Given the description of an element on the screen output the (x, y) to click on. 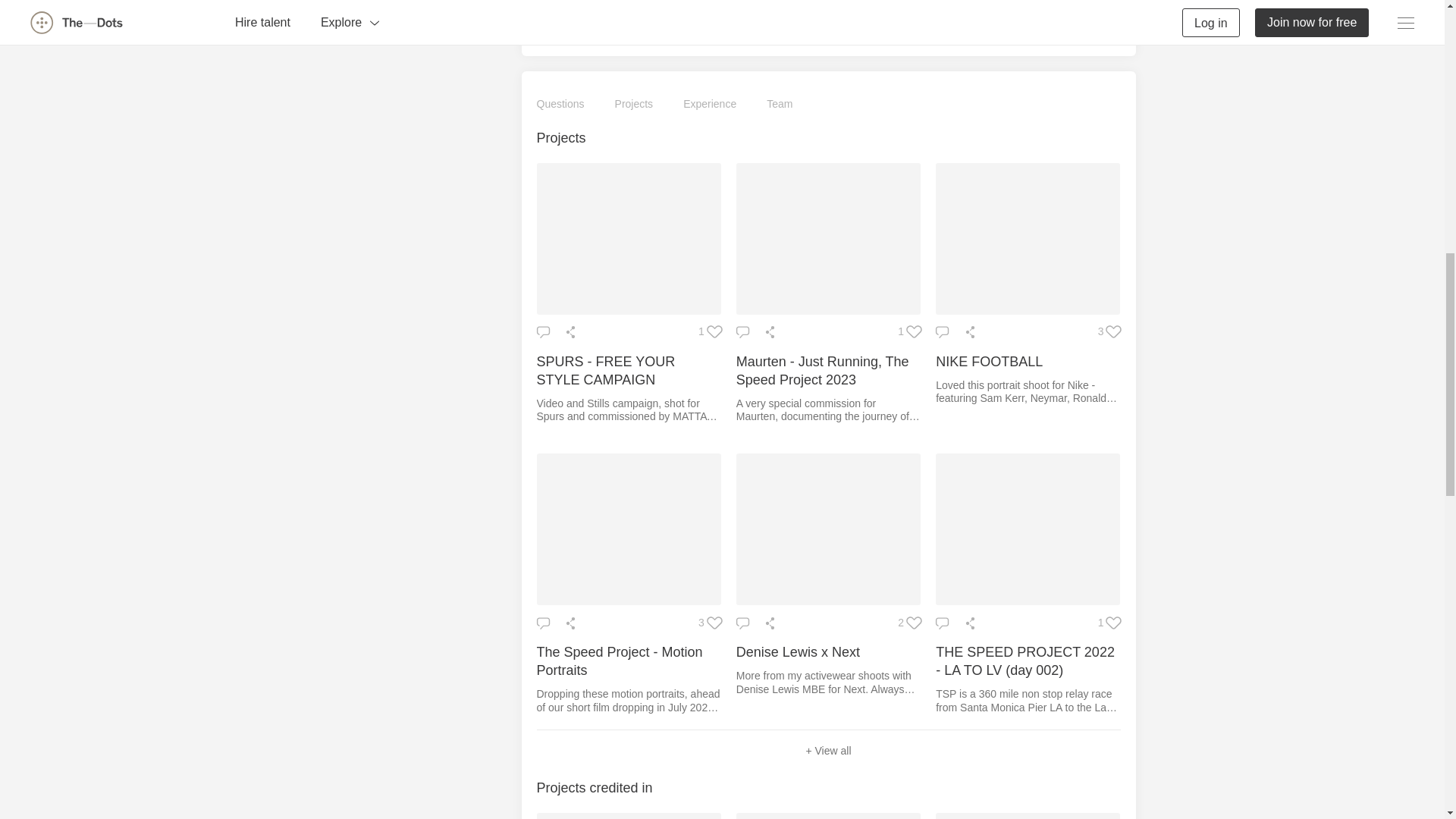
Experience (709, 104)
Team (779, 104)
Questions (561, 104)
Projects (633, 104)
